Given the description of an element on the screen output the (x, y) to click on. 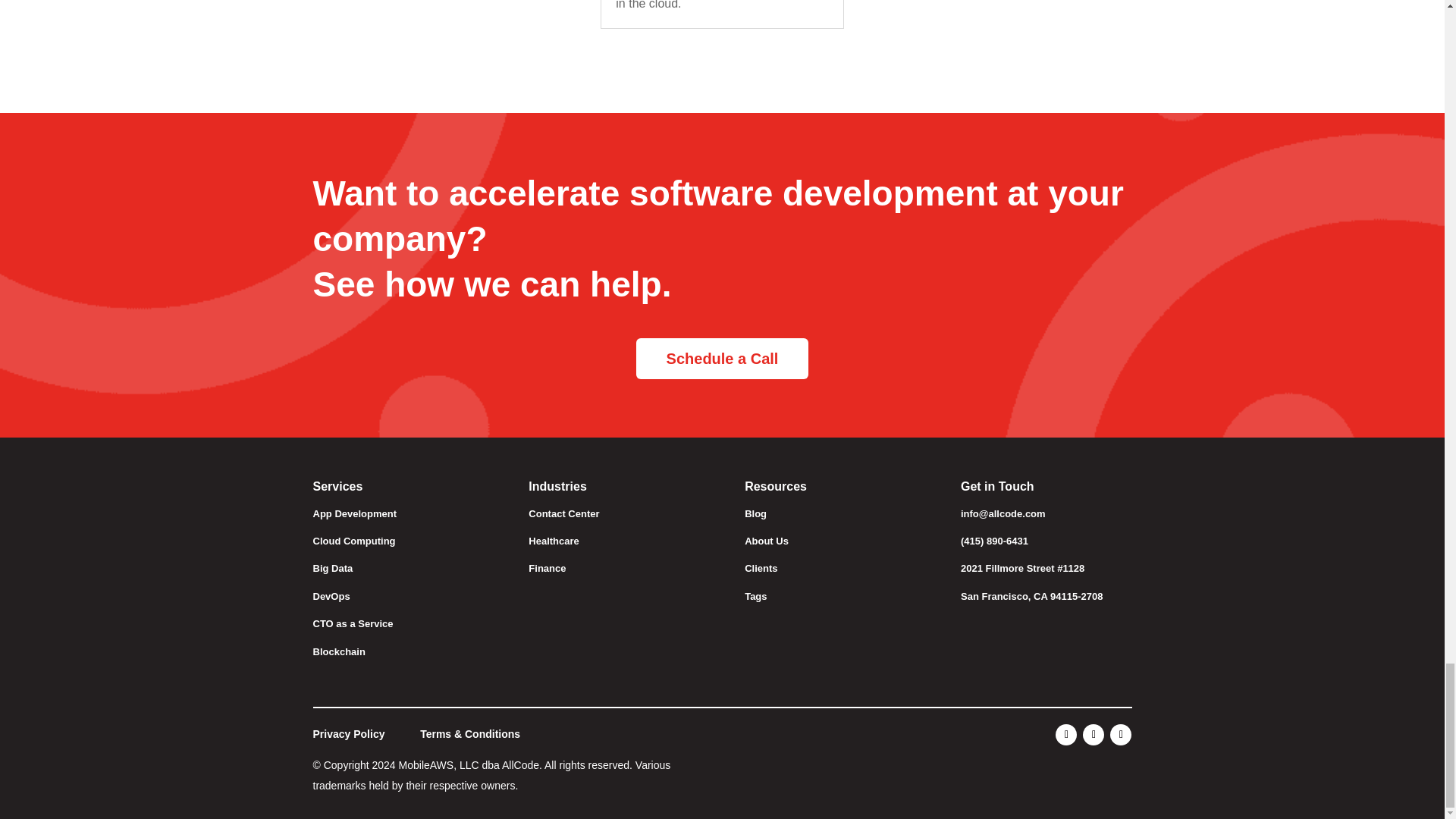
Follow on X (1093, 734)
Follow on Facebook (1066, 734)
Follow on LinkedIn (1120, 734)
